Given the description of an element on the screen output the (x, y) to click on. 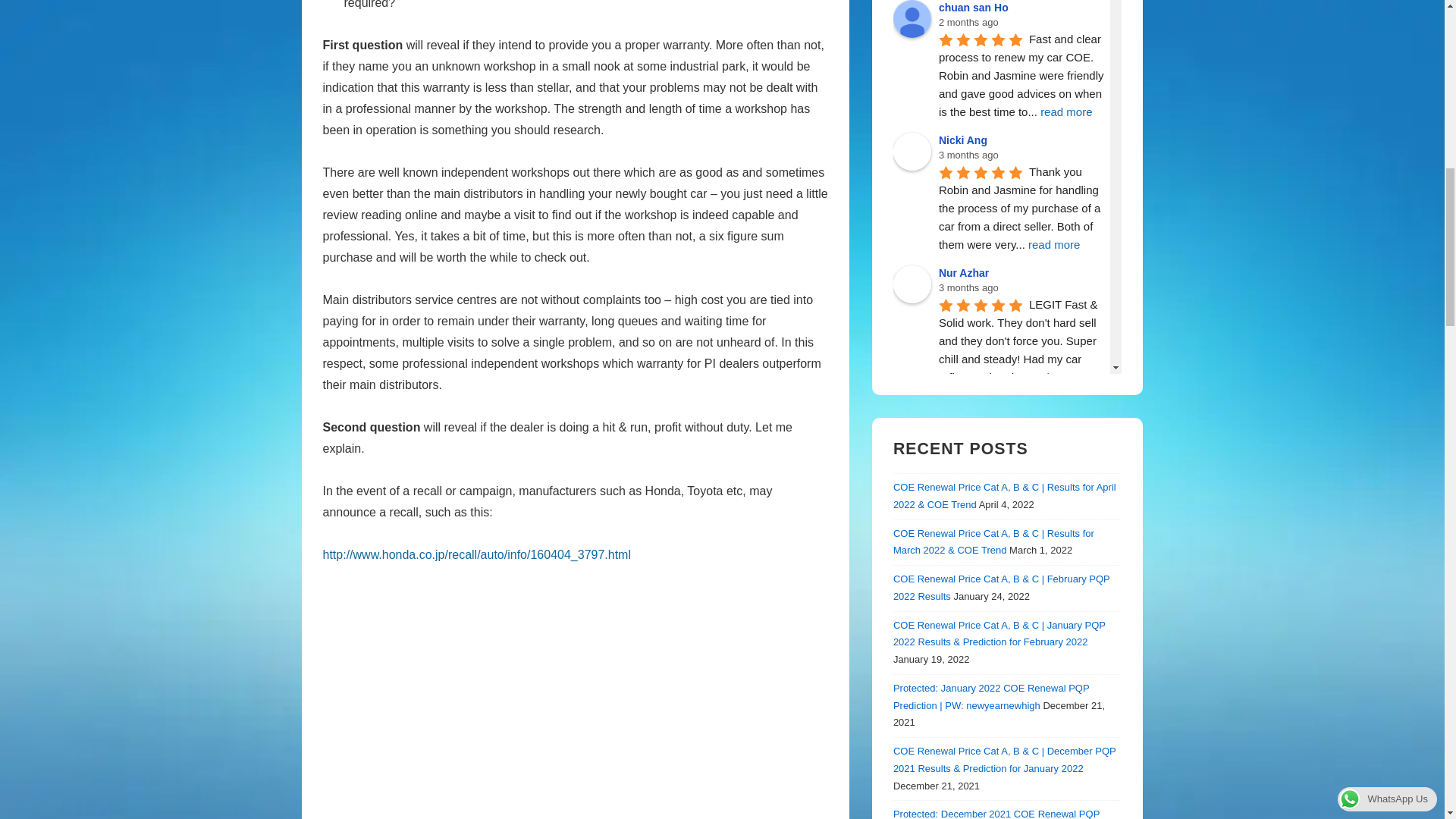
PicaSSo (912, 416)
chuan san Ho (912, 18)
Leonard Yu (912, 549)
Nicki Ang (912, 151)
Nur Azhar (912, 284)
Ken Lee (912, 700)
